Given the description of an element on the screen output the (x, y) to click on. 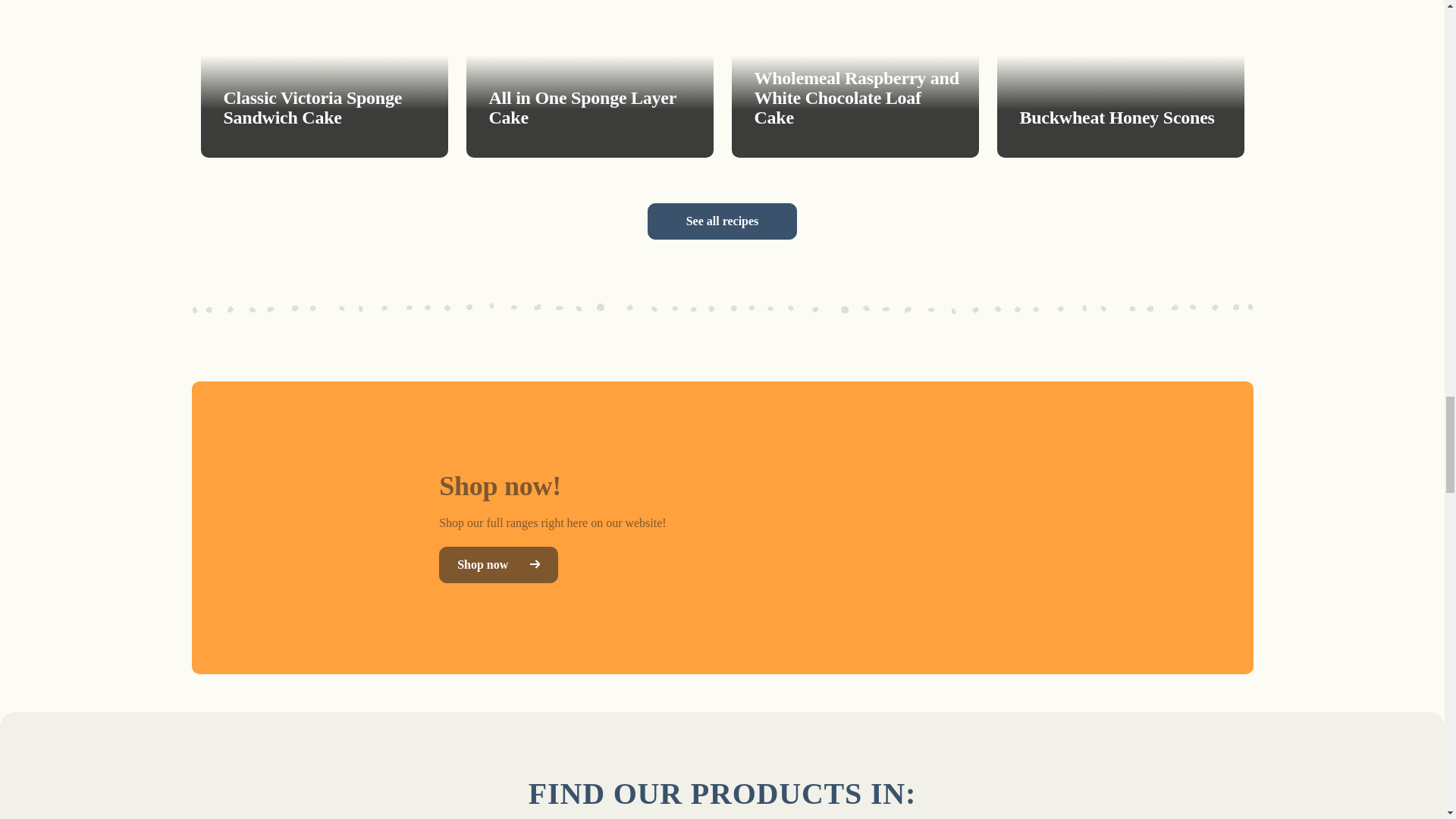
Classic Victoria Sponge Sandwich Cake (323, 79)
Wholemeal Raspberry and White Chocolate Loaf Cake (854, 79)
Buckwheat Honey Scones (1119, 79)
All in One Sponge Layer Cake (589, 79)
